Given the description of an element on the screen output the (x, y) to click on. 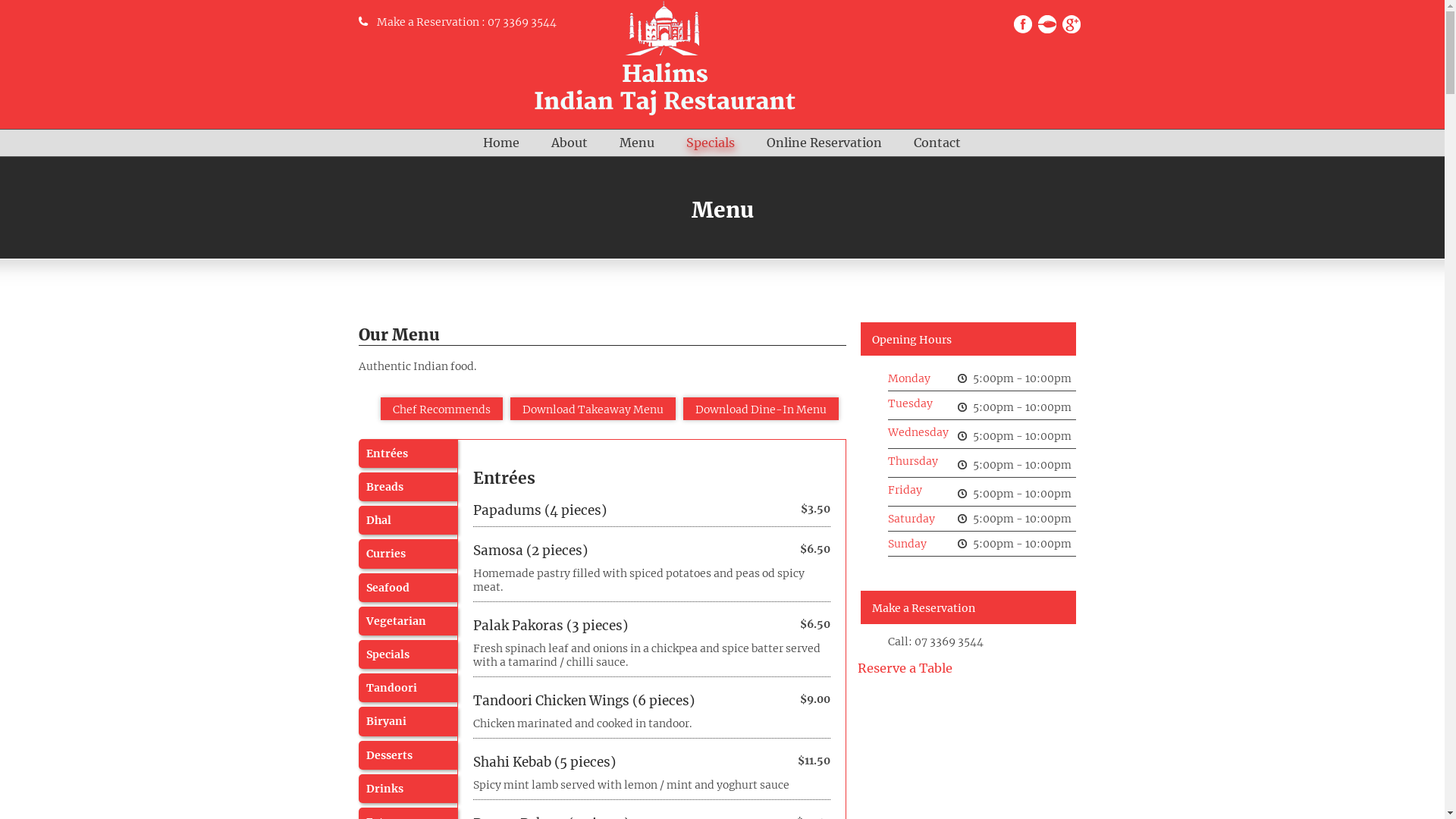
Contact Element type: text (937, 142)
Make a Reservation Element type: text (427, 21)
About Element type: text (569, 142)
Specials Element type: text (710, 142)
Download Takeaway Menu Element type: text (592, 408)
Reserve a Table Element type: text (904, 667)
07 3369 3544 Element type: text (520, 21)
Online Reservation Element type: text (823, 142)
Chef Recommends Element type: text (441, 408)
Menu Element type: text (636, 142)
Call: 07 3369 3544 Element type: text (935, 641)
Make a Reservation Element type: text (966, 607)
Home Element type: text (501, 142)
Download Dine-In Menu Element type: text (760, 408)
